Given the description of an element on the screen output the (x, y) to click on. 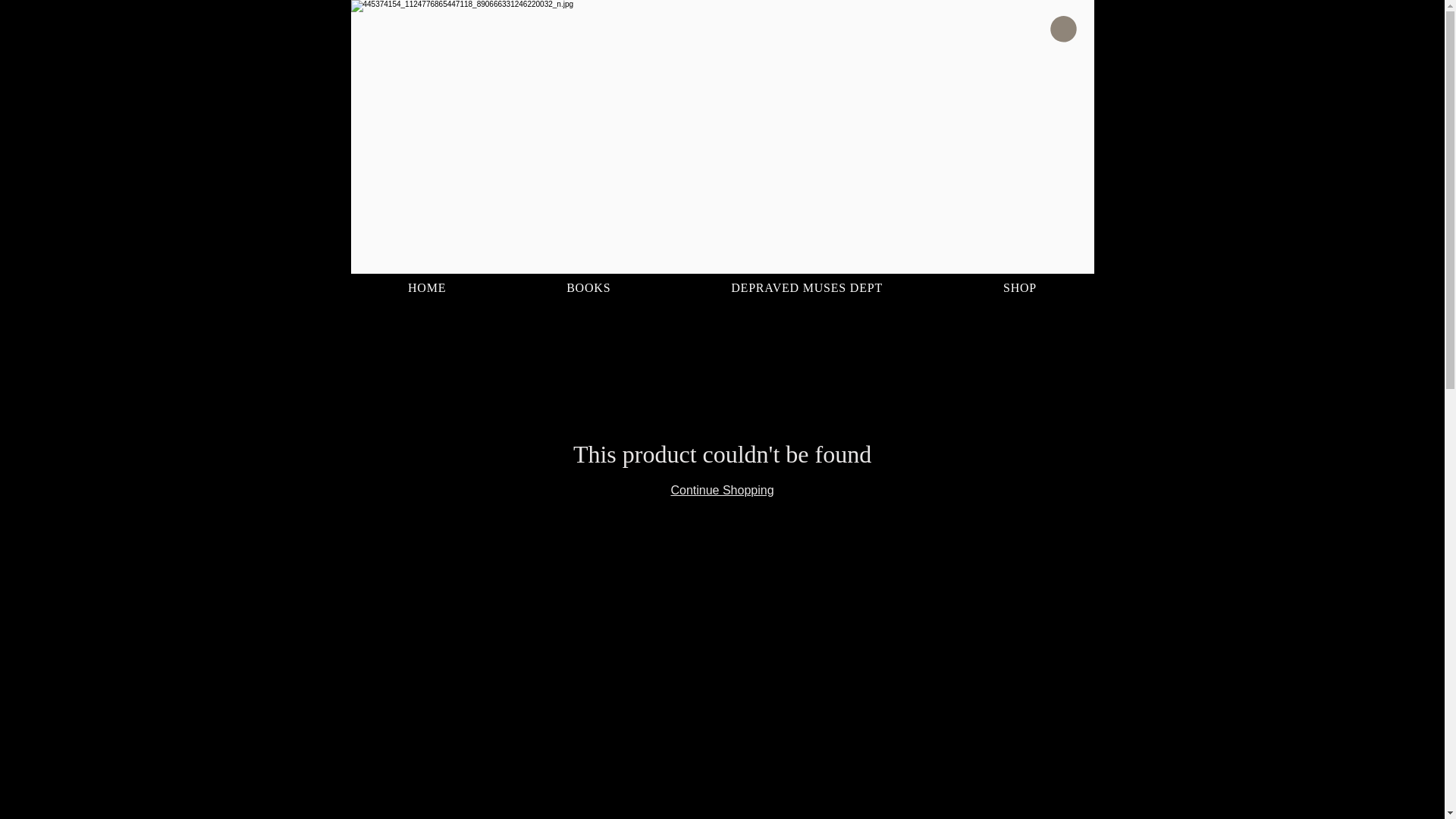
Continue Shopping (721, 490)
DEPRAVED MUSES DEPT (807, 287)
SHOP (1020, 287)
HOME (426, 287)
Log In (1043, 57)
BOOKS (588, 287)
